Given the description of an element on the screen output the (x, y) to click on. 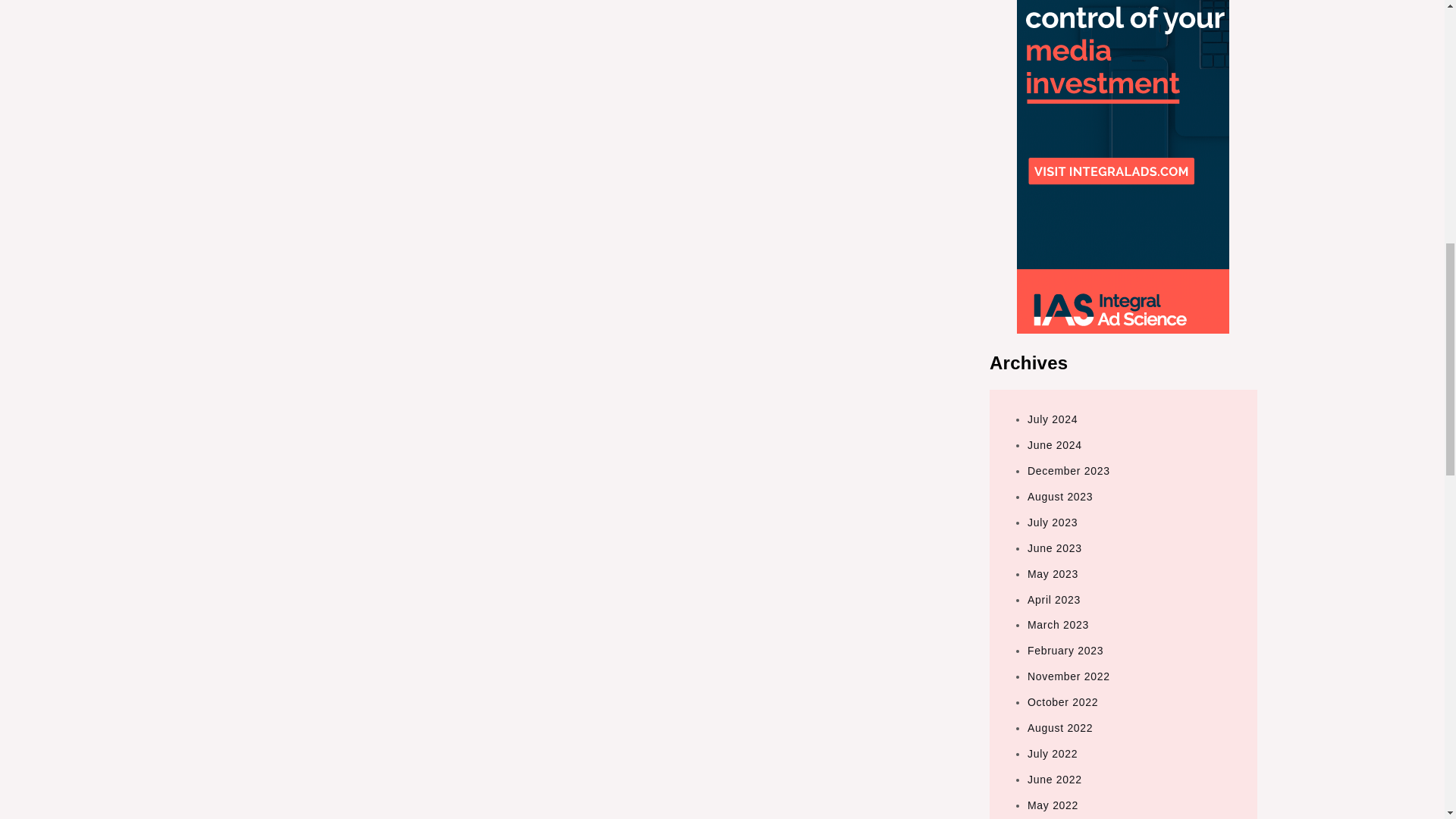
December 2023 (1068, 470)
June 2023 (1054, 548)
February 2023 (1065, 650)
August 2022 (1060, 727)
June 2022 (1054, 779)
July 2024 (1052, 419)
August 2023 (1060, 496)
November 2022 (1068, 676)
October 2022 (1062, 702)
May 2023 (1052, 573)
